Given the description of an element on the screen output the (x, y) to click on. 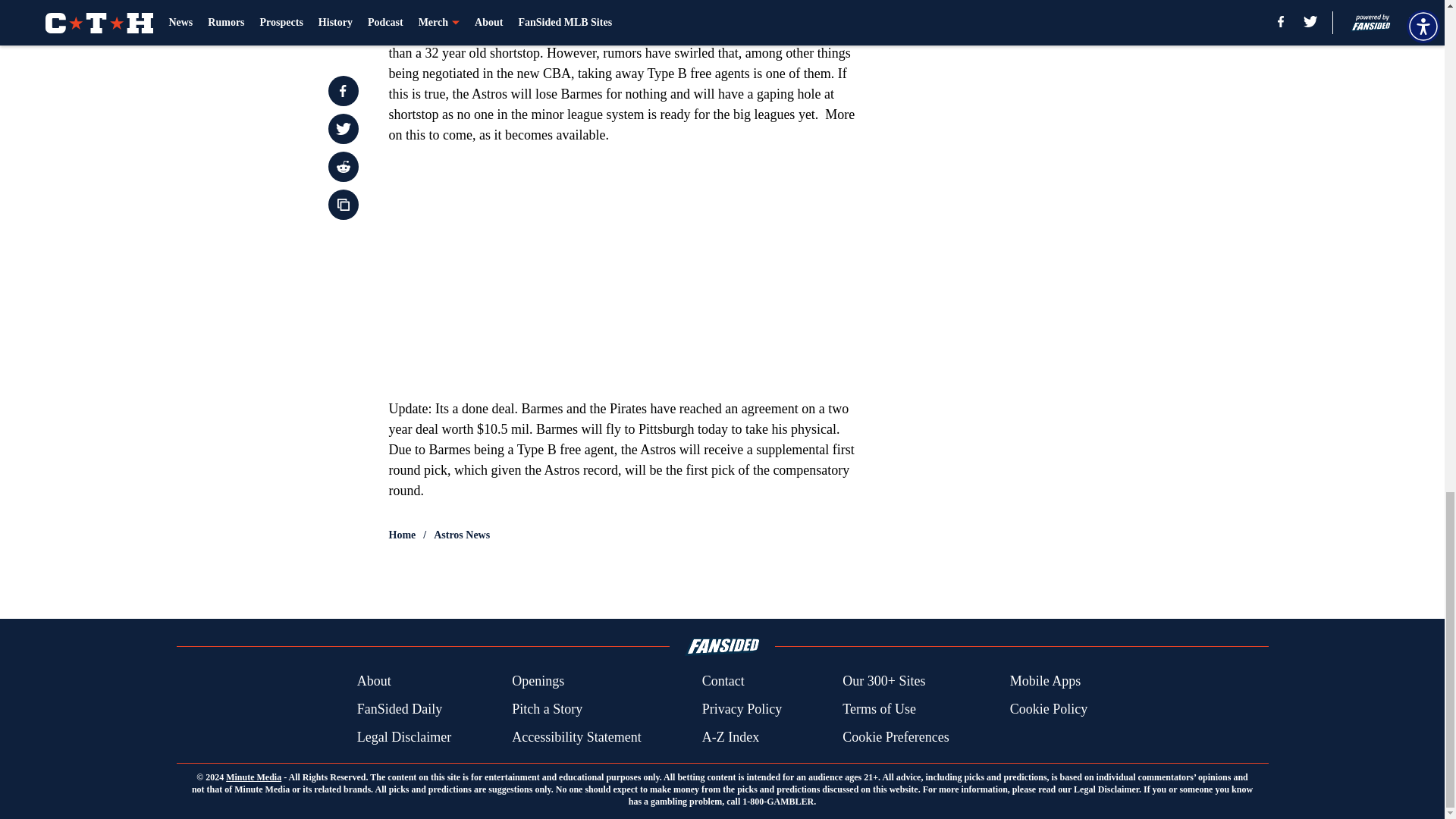
Privacy Policy (742, 709)
About (373, 680)
Pitch a Story (547, 709)
Accessibility Statement (576, 737)
Legal Disclaimer (403, 737)
Cookie Policy (1048, 709)
FanSided Daily (399, 709)
Mobile Apps (1045, 680)
Openings (538, 680)
A-Z Index (729, 737)
